Given the description of an element on the screen output the (x, y) to click on. 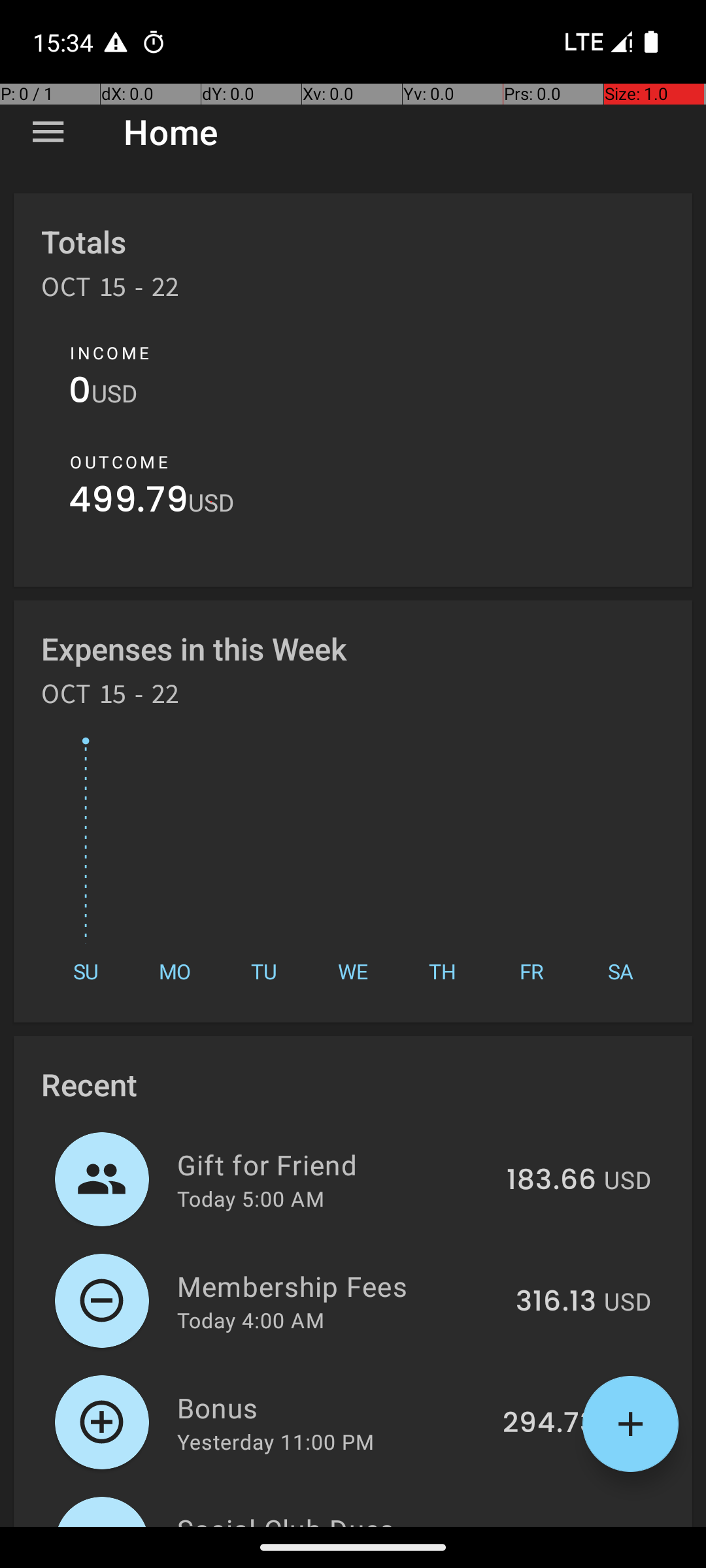
499.79 Element type: android.widget.TextView (128, 502)
Gift for Friend Element type: android.widget.TextView (334, 1164)
Today 5:00 AM Element type: android.widget.TextView (250, 1198)
183.66 Element type: android.widget.TextView (550, 1180)
Membership Fees Element type: android.widget.TextView (338, 1285)
Today 4:00 AM Element type: android.widget.TextView (250, 1320)
316.13 Element type: android.widget.TextView (555, 1301)
Bonus Element type: android.widget.TextView (332, 1407)
Yesterday 11:00 PM Element type: android.widget.TextView (275, 1441)
294.73 Element type: android.widget.TextView (549, 1423)
Social Club Dues Element type: android.widget.TextView (336, 1518)
371.76 Element type: android.widget.TextView (552, 1524)
